Given the description of an element on the screen output the (x, y) to click on. 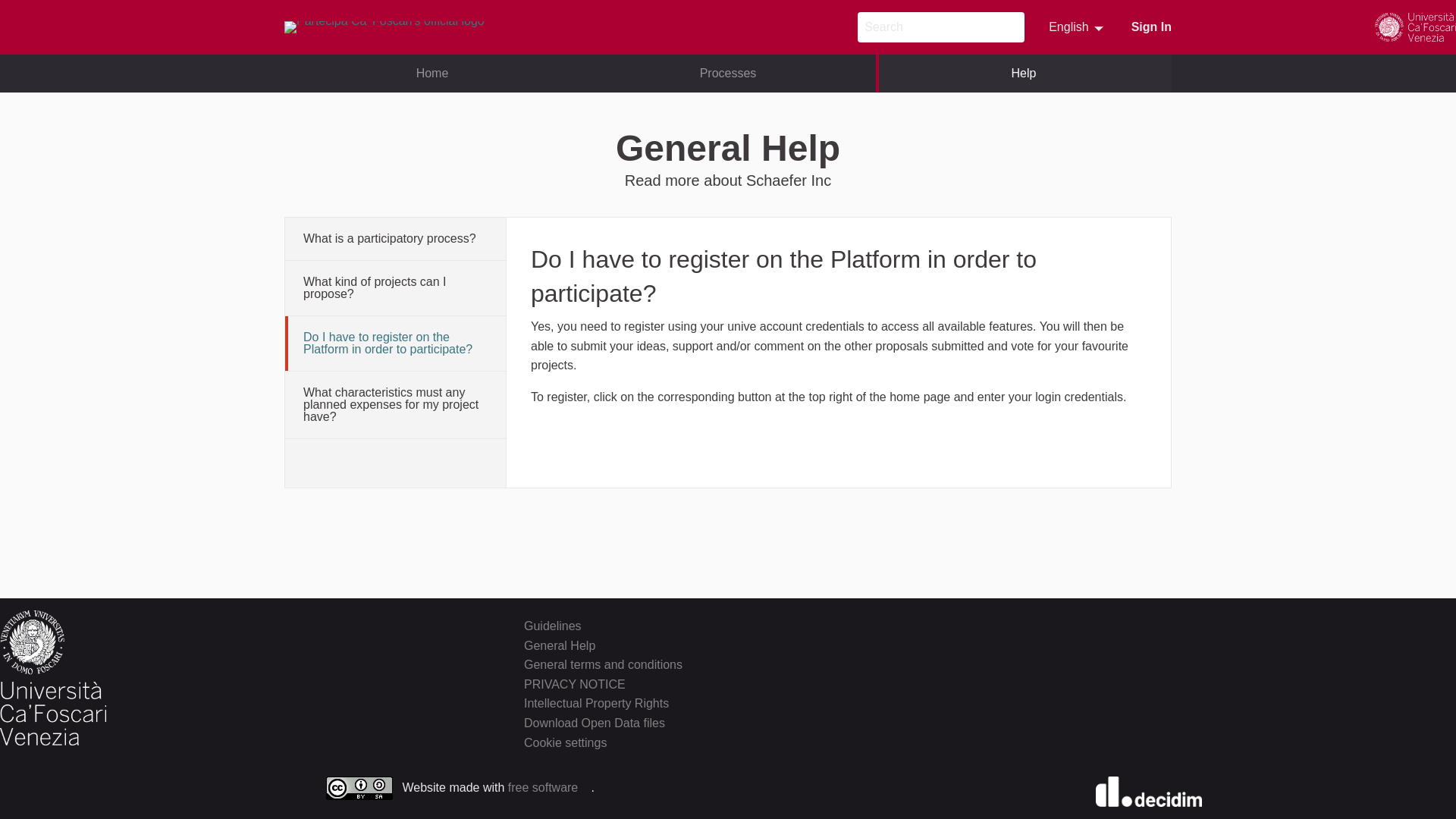
General terms and conditions (603, 664)
Facebook (1109, 623)
Search (1011, 26)
General Help (559, 645)
Guidelines (1077, 27)
GitHub (552, 625)
